Given the description of an element on the screen output the (x, y) to click on. 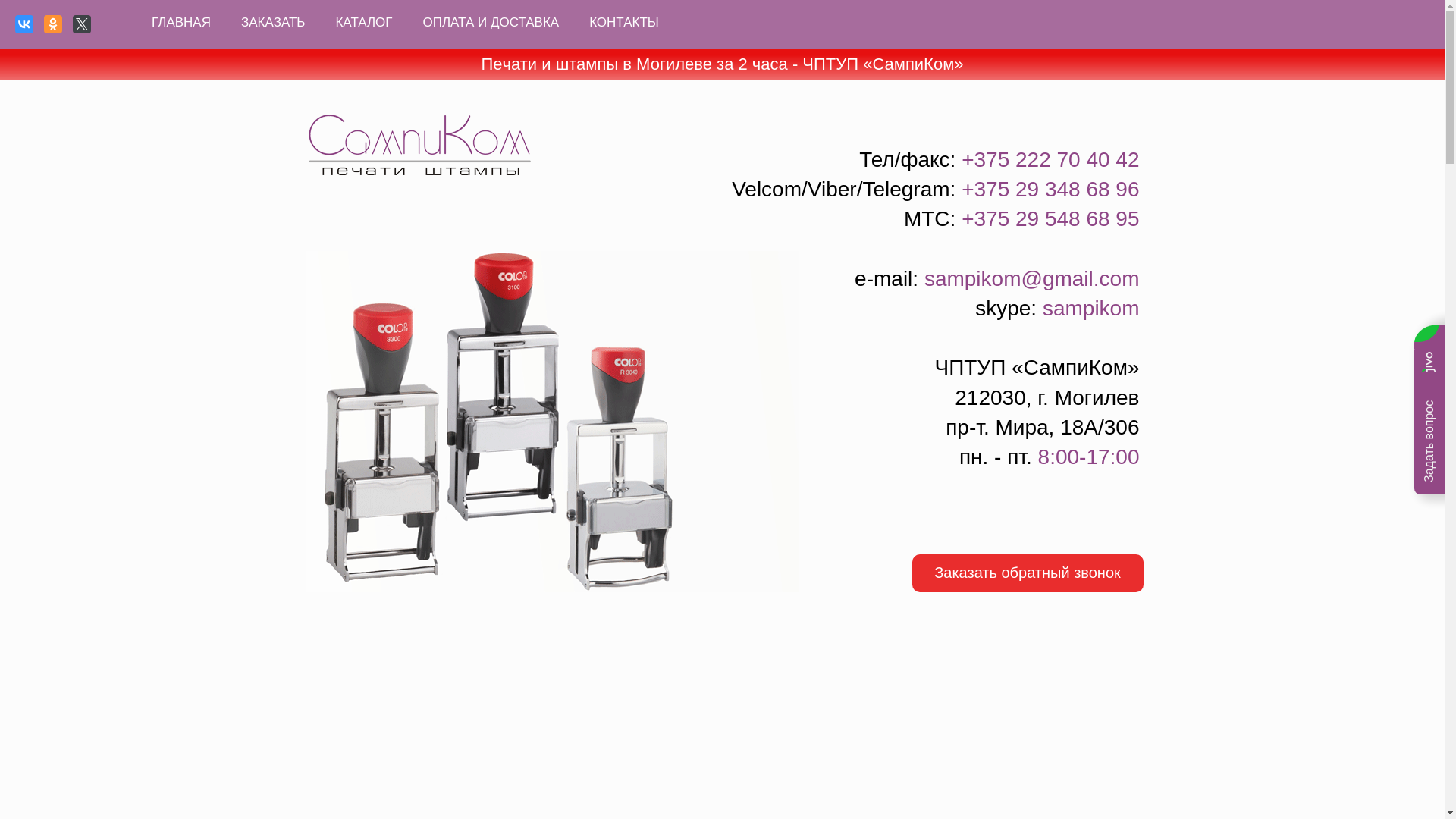
+375 222 70 40 42 Element type: text (1050, 159)
sampikom@gmail.com Element type: text (1031, 278)
sampikom Element type: text (1090, 308)
Viber Element type: text (831, 188)
Twitter Element type: hover (81, 24)
+375 29 548 68 95 Element type: text (1050, 218)
Velcom Element type: text (766, 188)
